Given the description of an element on the screen output the (x, y) to click on. 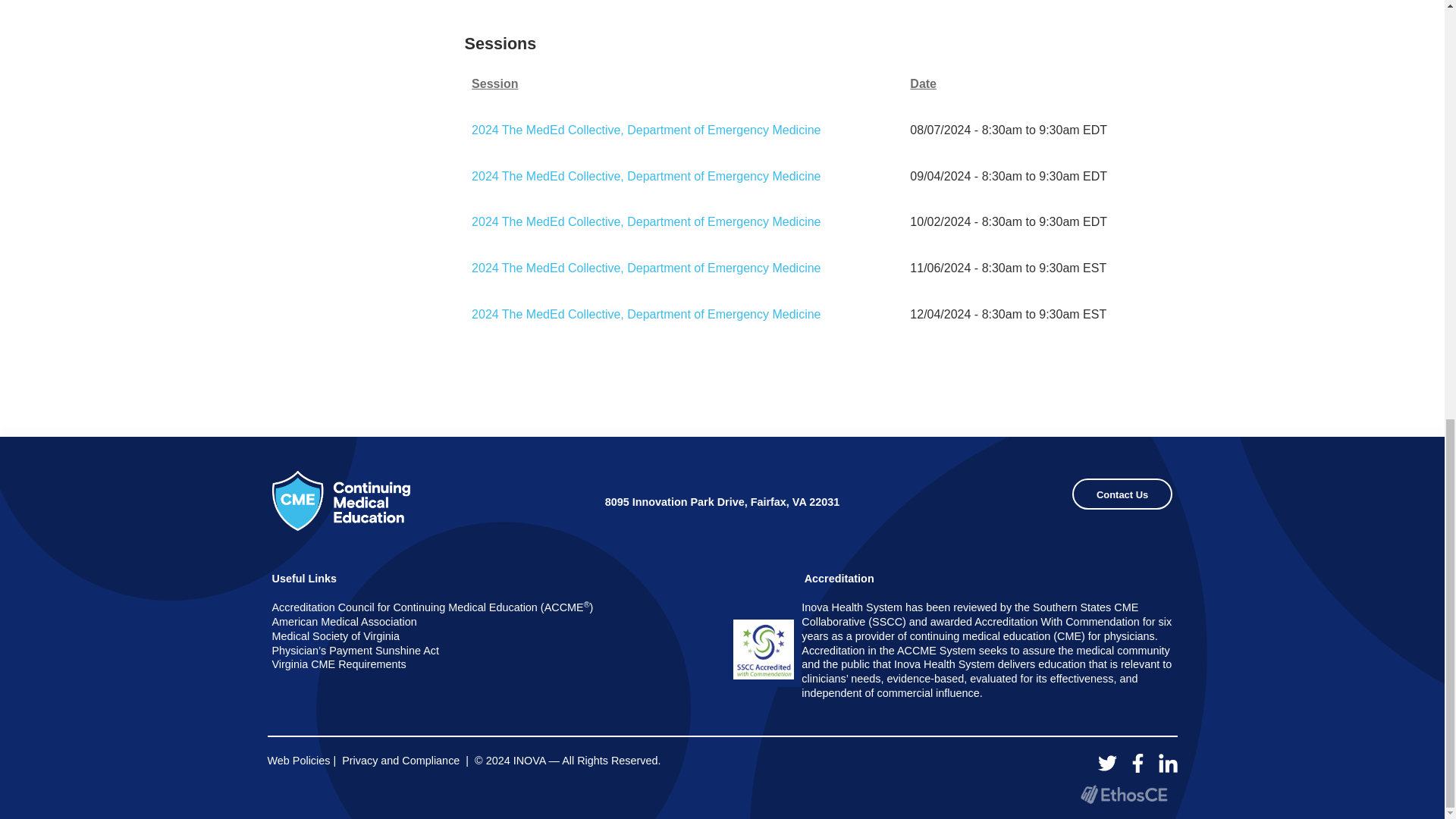
sort by Date (1032, 84)
sort by Session (686, 84)
